Given the description of an element on the screen output the (x, y) to click on. 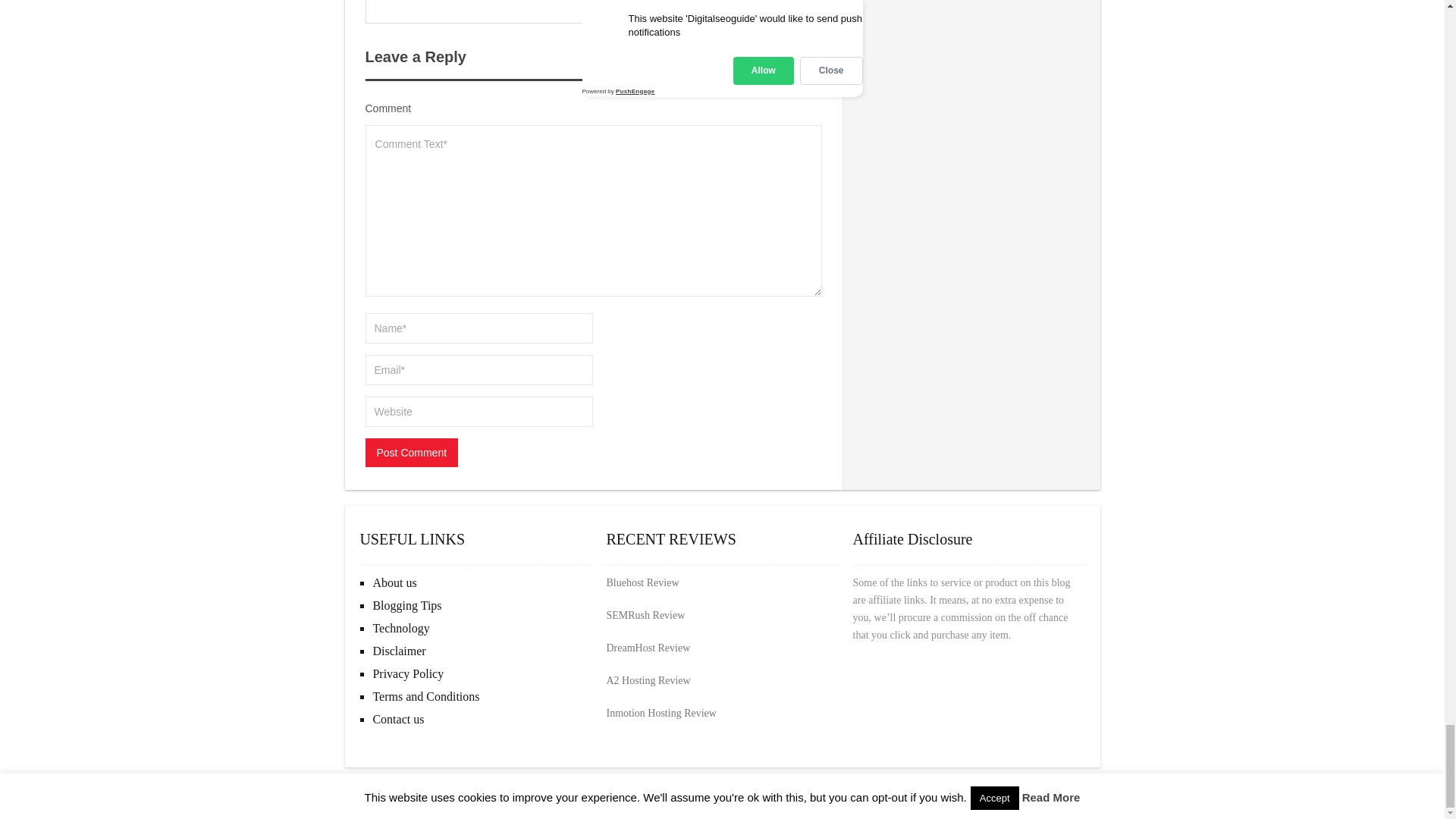
Post Comment (411, 452)
